Given the description of an element on the screen output the (x, y) to click on. 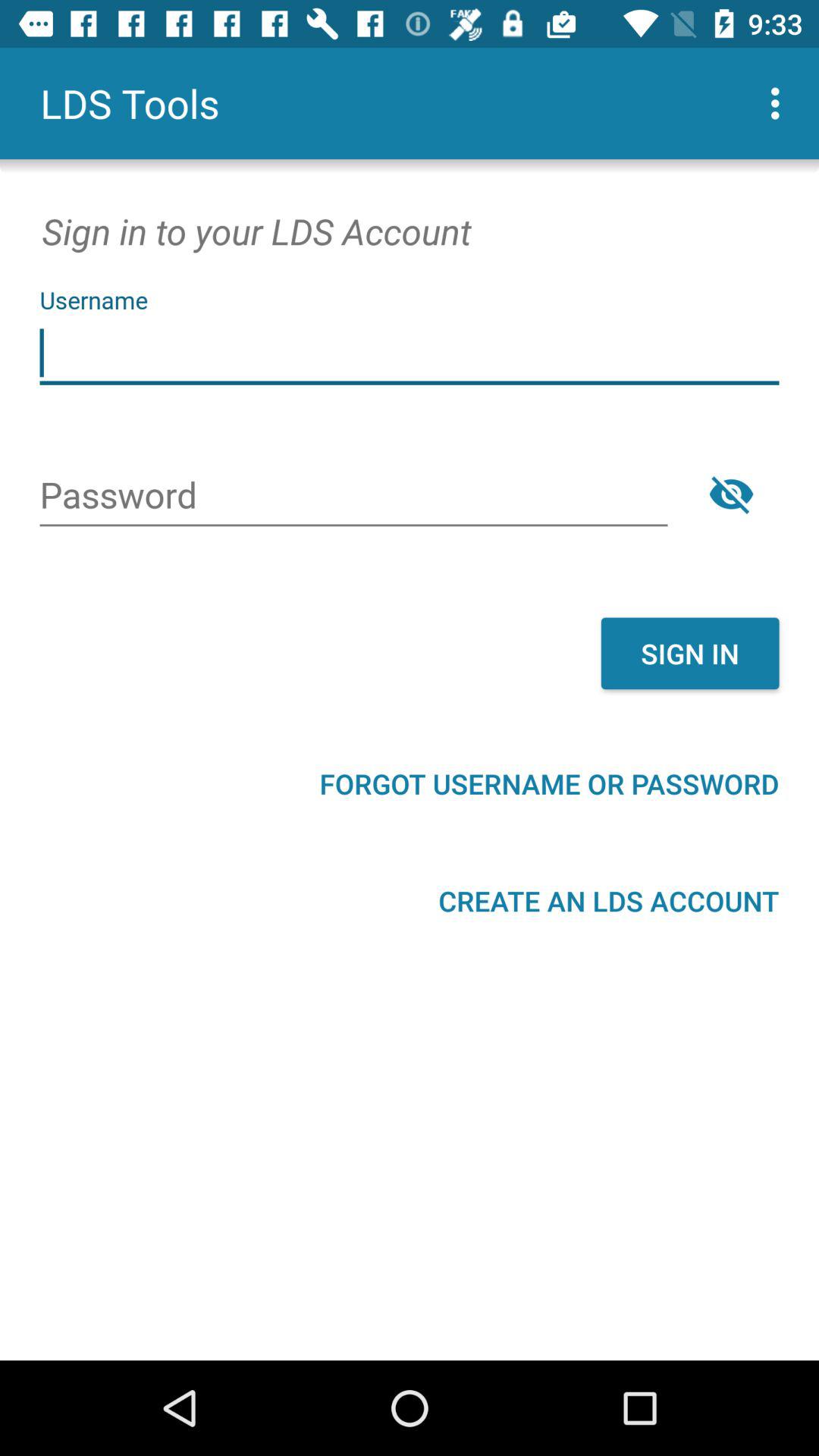
screen page (409, 353)
